Given the description of an element on the screen output the (x, y) to click on. 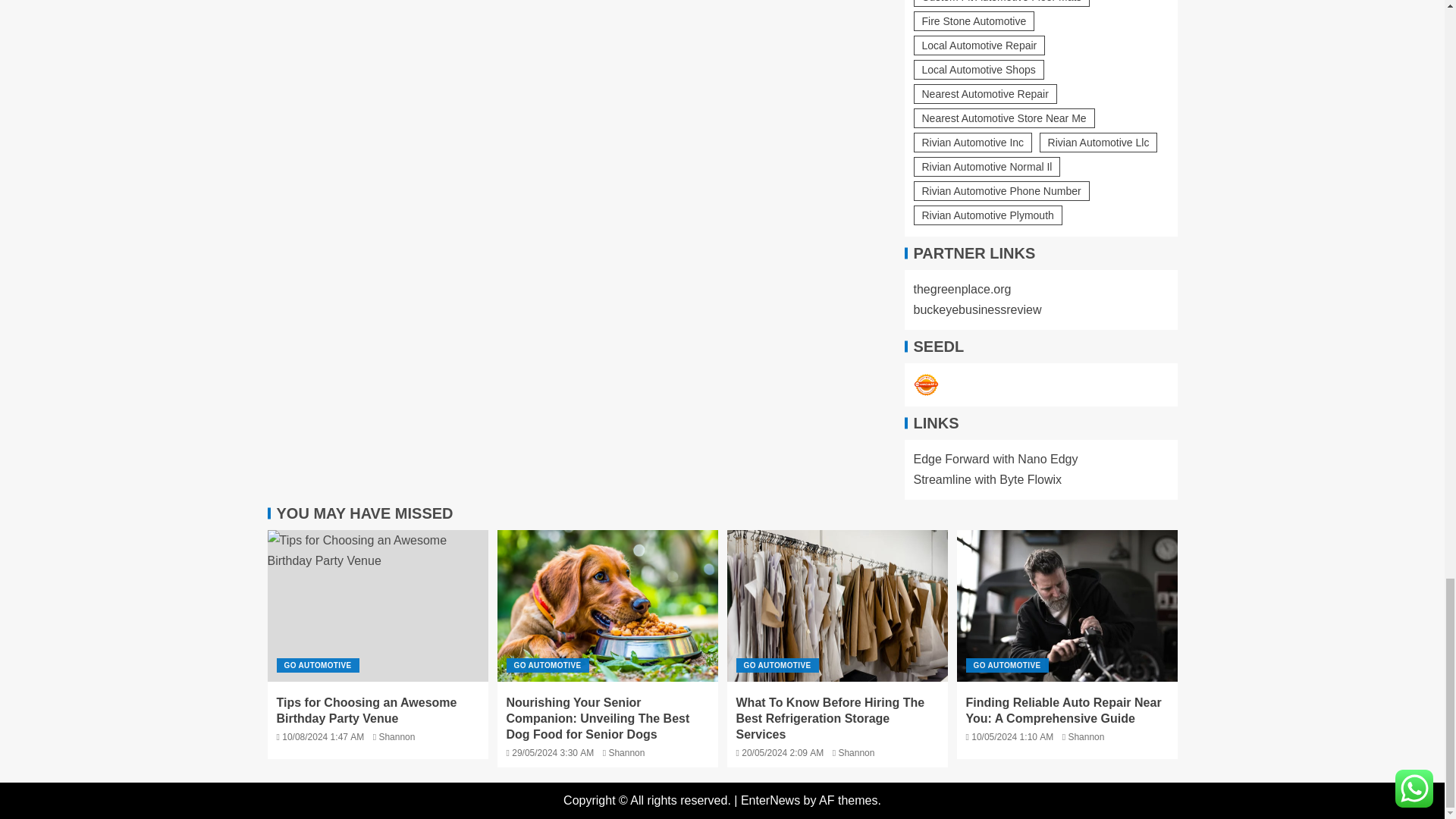
Seedbacklink (925, 385)
Tips for Choosing an Awesome Birthday Party Venue (376, 605)
